Given the description of an element on the screen output the (x, y) to click on. 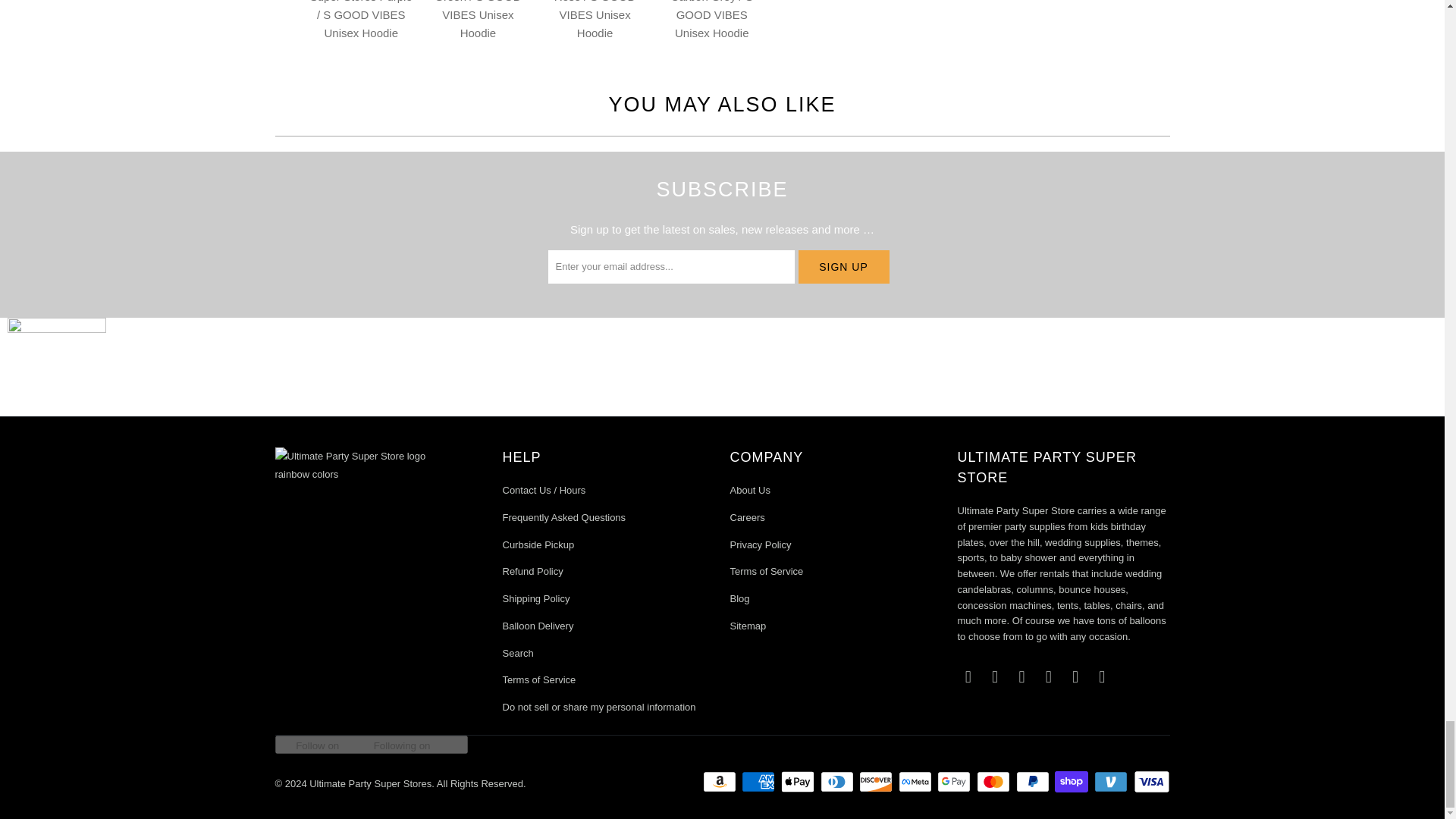
Visa (1150, 781)
Email Ultimate Party Super Stores (967, 677)
Ultimate Party Super Stores on YouTube (1101, 677)
Ultimate Party Super Stores on Instagram (1021, 677)
Venmo (1112, 781)
Ultimate Party Super Stores on Facebook (995, 677)
Mastercard (994, 781)
Google Pay (955, 781)
Ultimate Party Super Stores on Twitter (1075, 677)
Diners Club (839, 781)
Sign Up (842, 266)
Meta Pay (916, 781)
Ultimate Party Super Stores on Pinterest (1047, 677)
Discover (877, 781)
Amazon (721, 781)
